Given the description of an element on the screen output the (x, y) to click on. 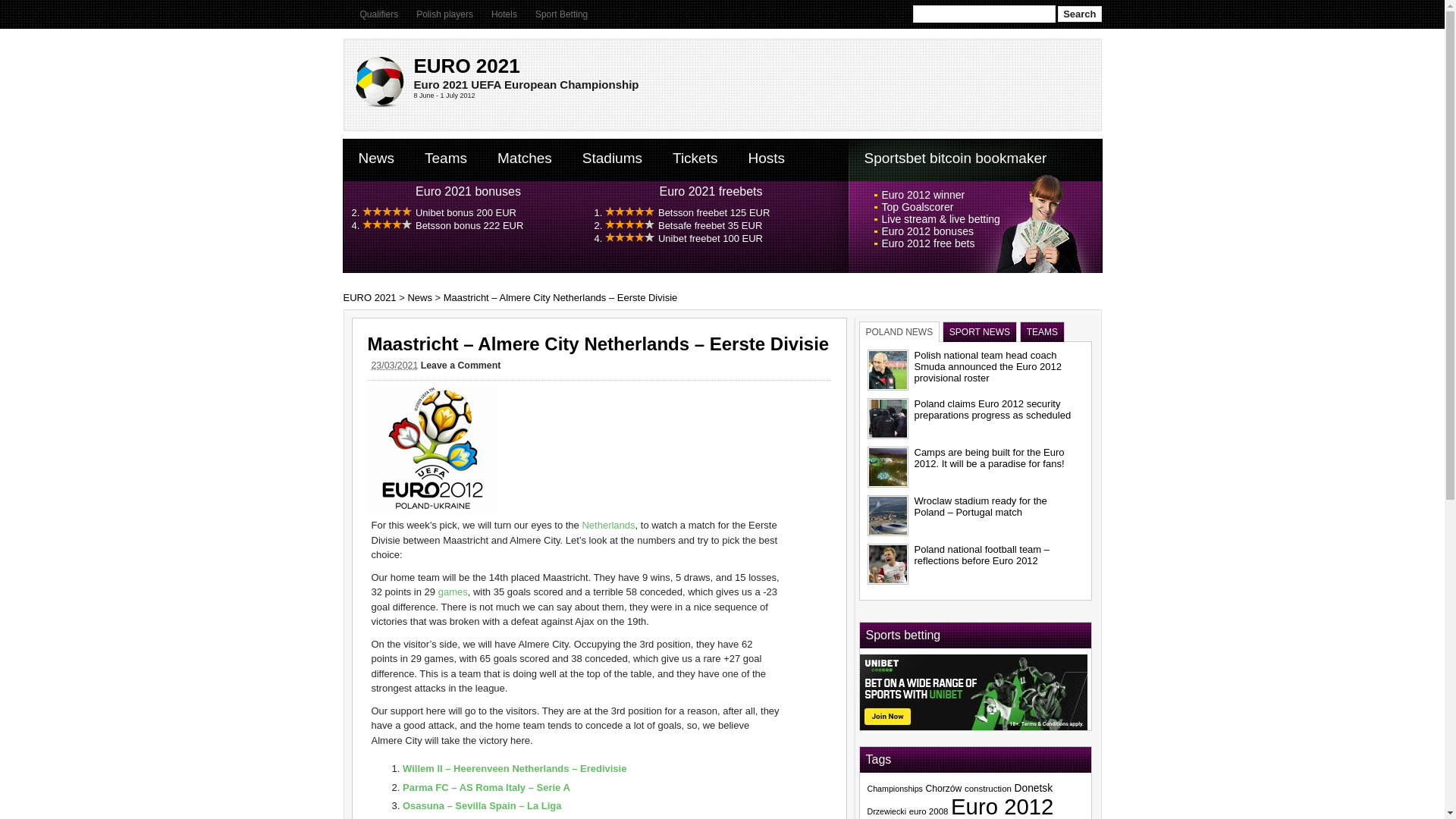
Hosts (765, 158)
undefined (465, 212)
Tickets (695, 158)
Euro 2012 winner (921, 194)
Euro 2012 bonuses (926, 231)
Top Goalscorer (916, 206)
Unibet freebet 100 EUR (710, 238)
games (452, 591)
Euro 2012 free bets (927, 243)
undefined (709, 225)
EURO 2021 (383, 112)
Betsson bonus 222 EUR (468, 225)
Go to EURO 2021. (369, 297)
Stadiums (612, 158)
Teams (445, 158)
